Given the description of an element on the screen output the (x, y) to click on. 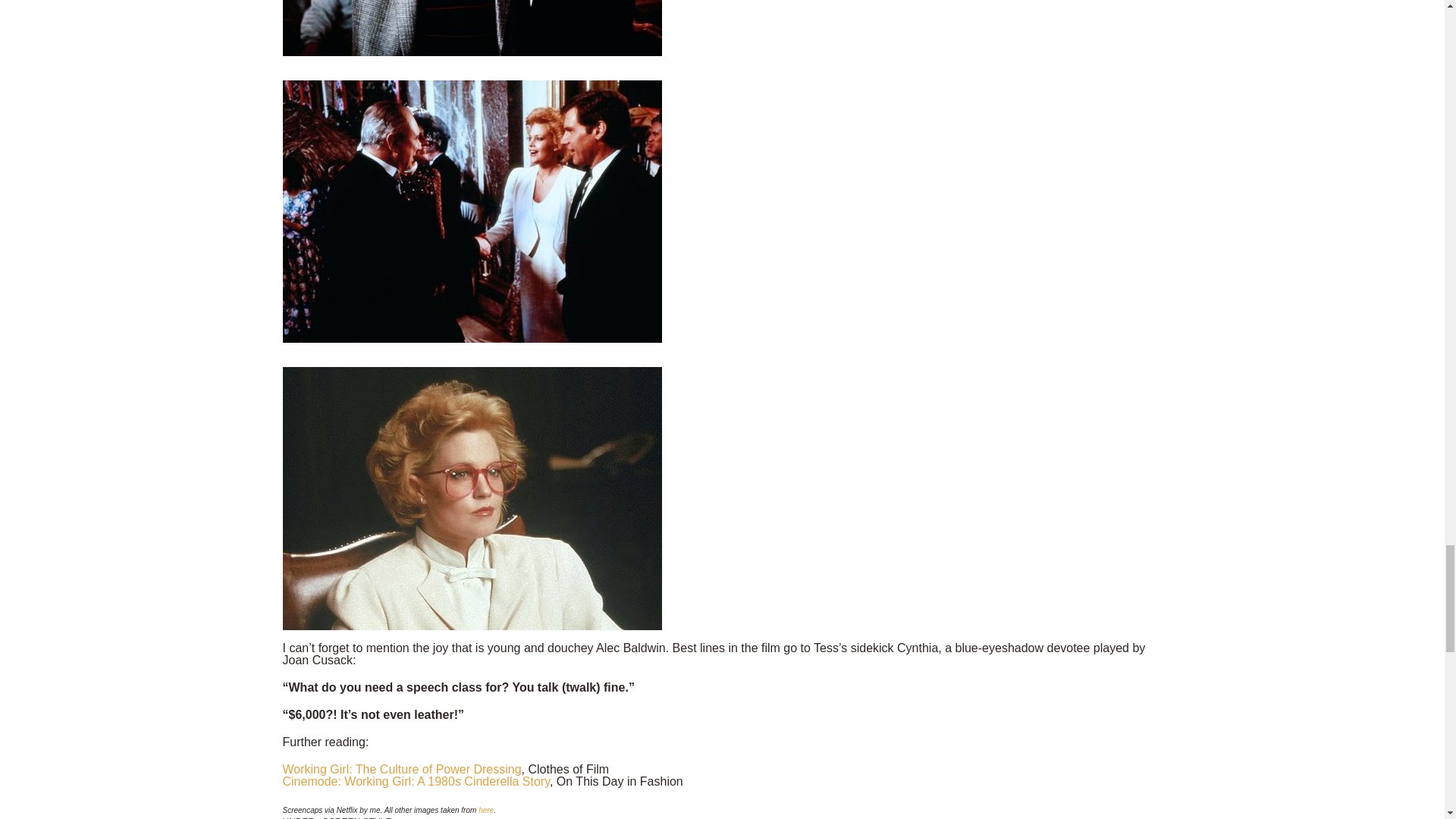
here (486, 809)
SCREEN STYLE (355, 817)
Cinemode: Working Girl: A 1980s Cinderella Story (415, 780)
Working Girl: The Culture of Power Dressing (401, 768)
View all posts in screen style (355, 817)
